Given the description of an element on the screen output the (x, y) to click on. 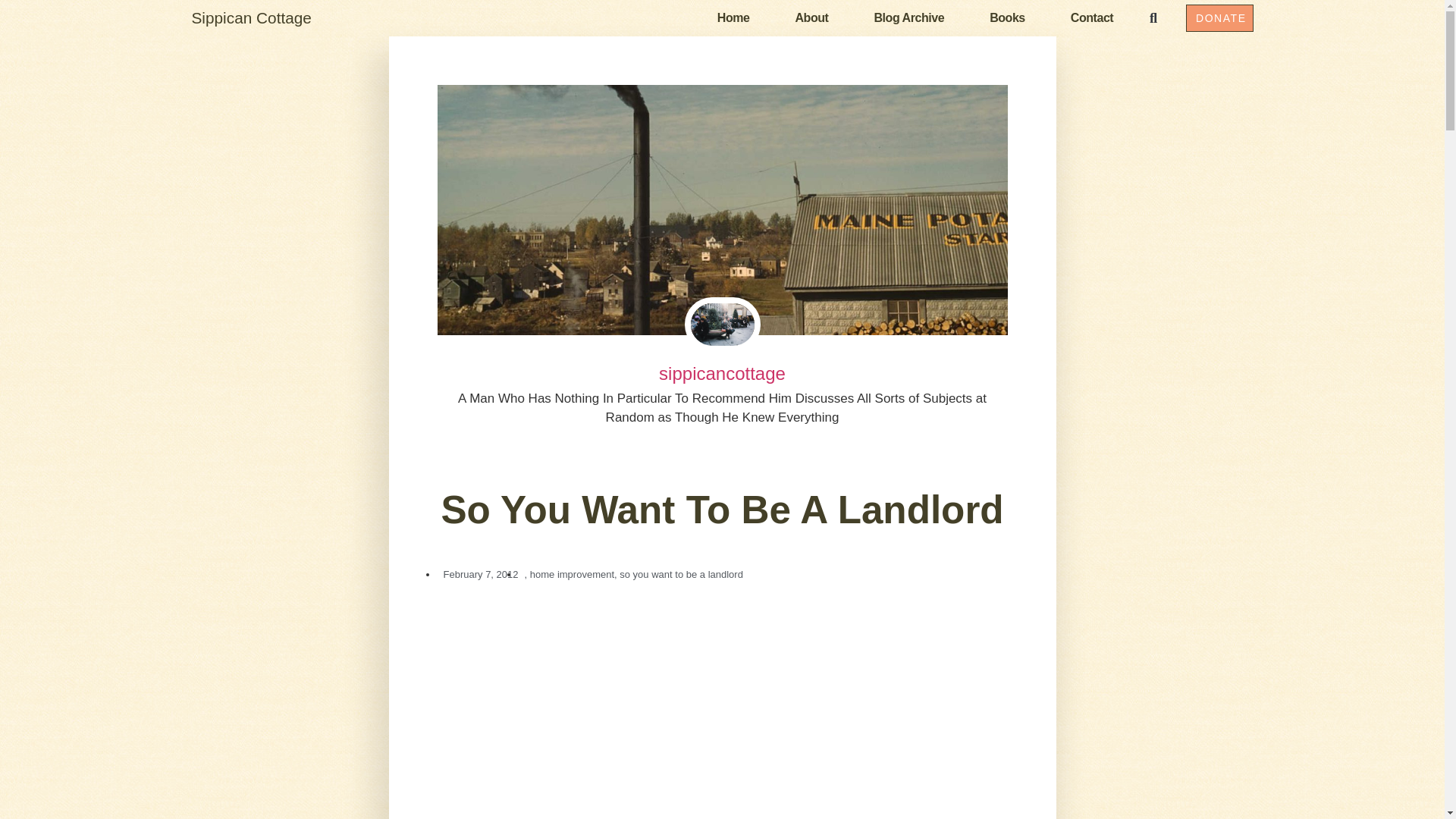
so you want to be a landlord (681, 573)
About (811, 17)
Sippican Cottage (250, 17)
sippicancottage (721, 373)
Blog Archive (909, 17)
Books (1006, 17)
Hoarder's House- Dirtiest, Most filthy house on Youtube (721, 708)
February 7, 2012 (477, 573)
home improvement (571, 573)
Contact (1091, 17)
